Given the description of an element on the screen output the (x, y) to click on. 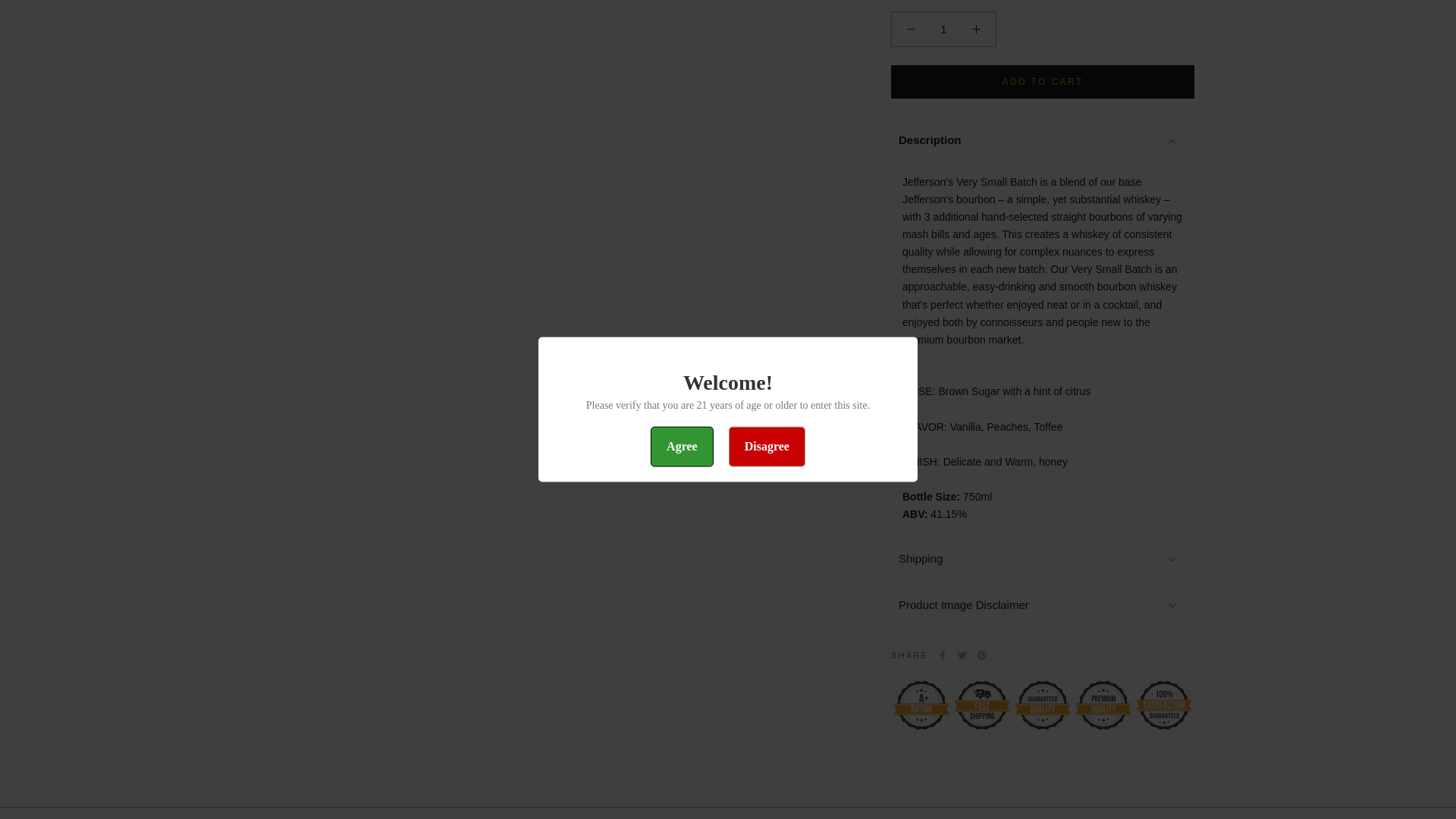
1 (943, 2)
